Given the description of an element on the screen output the (x, y) to click on. 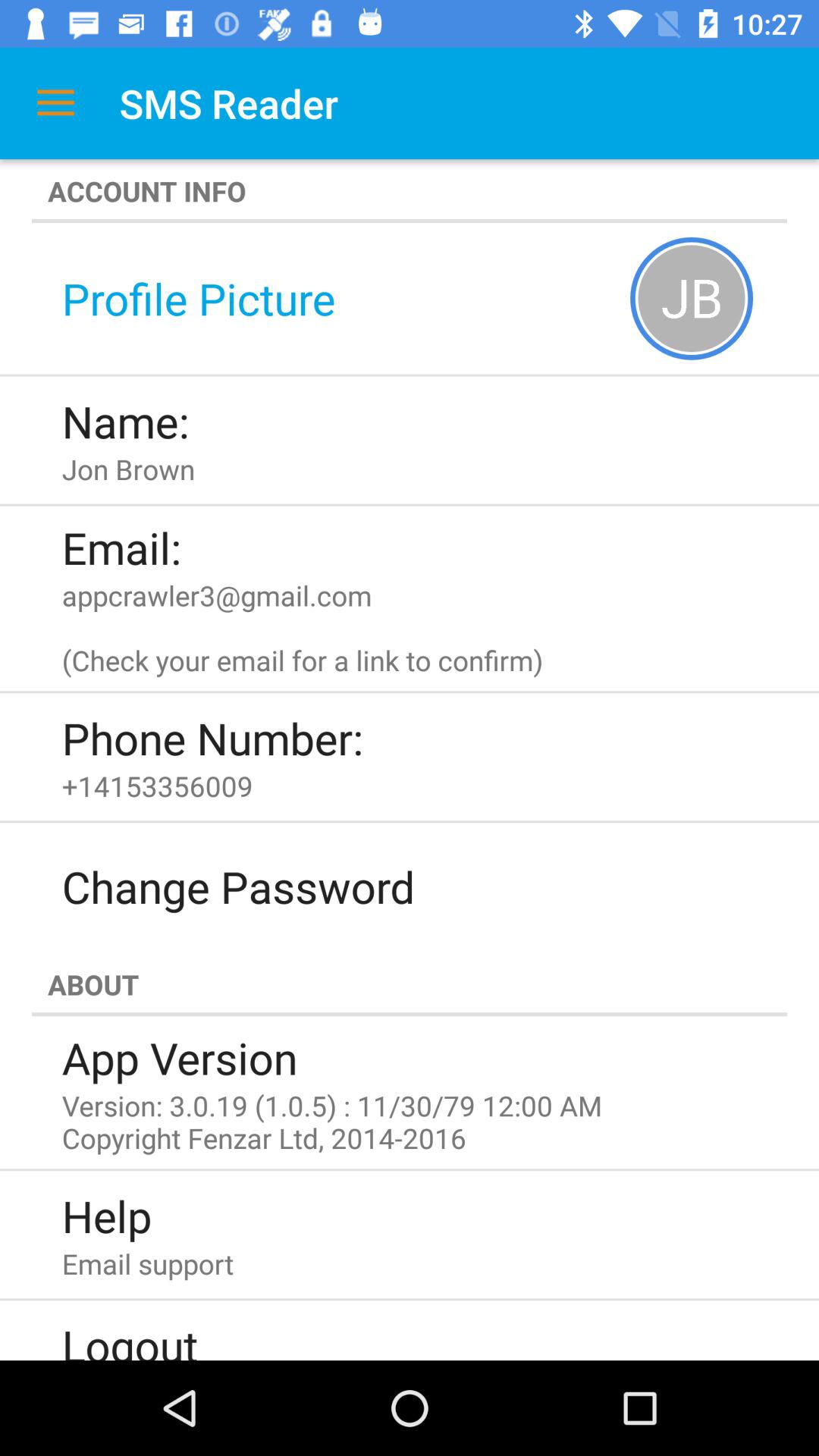
press icon to the left of sms reader (55, 103)
